Given the description of an element on the screen output the (x, y) to click on. 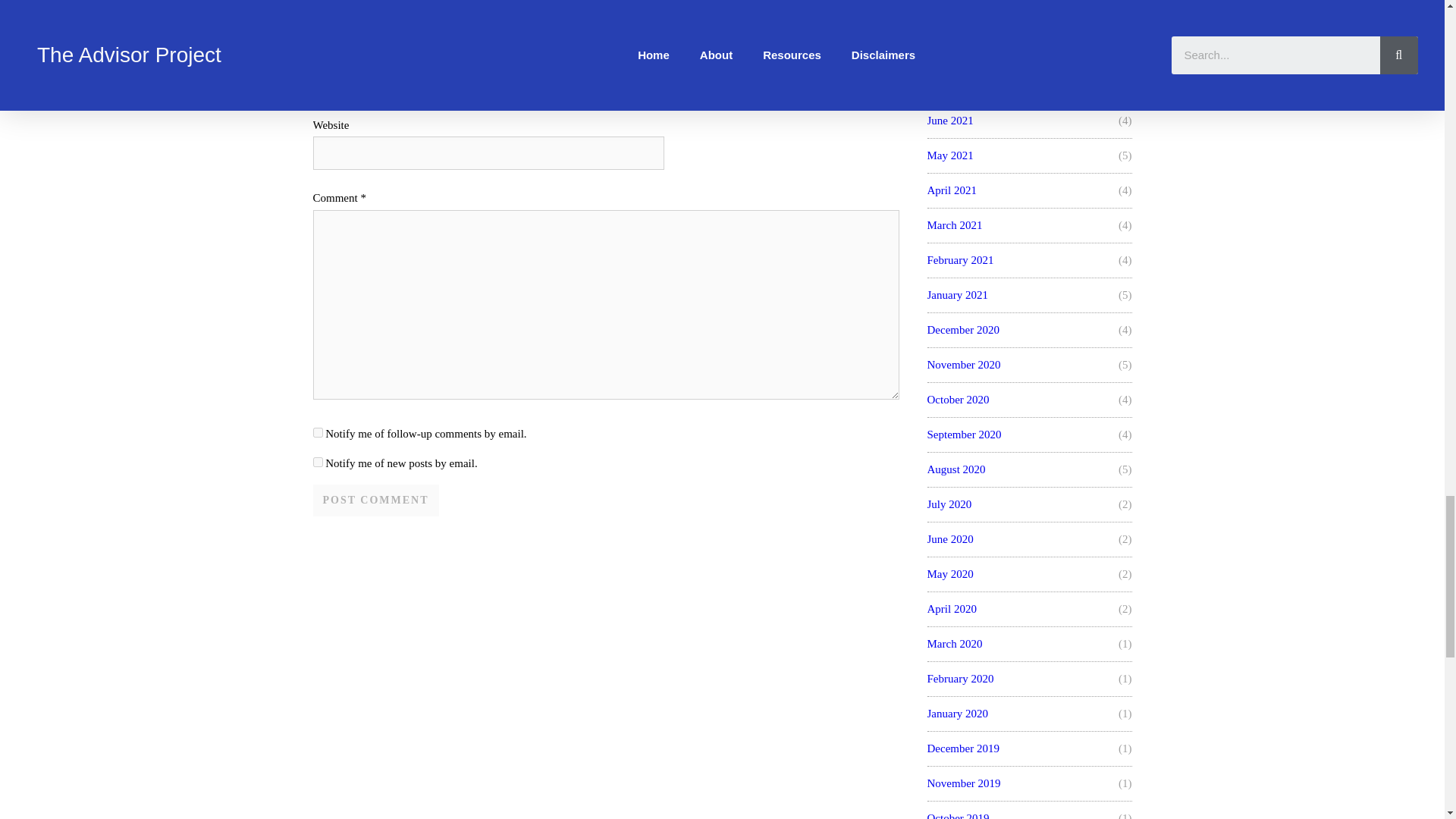
Post Comment (375, 500)
subscribe (317, 432)
subscribe (317, 461)
